Given the description of an element on the screen output the (x, y) to click on. 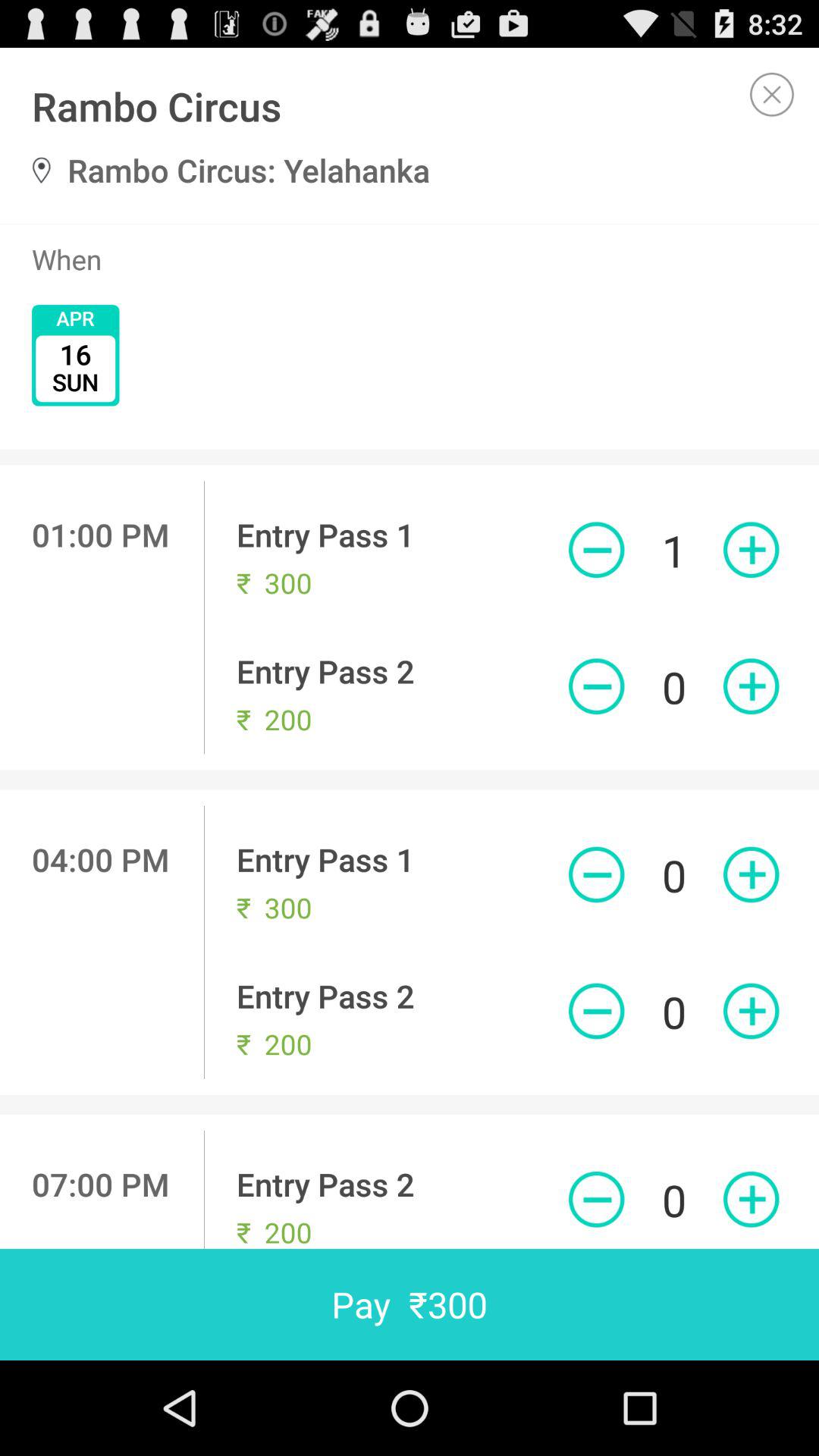
add an entry pass (751, 1011)
